Given the description of an element on the screen output the (x, y) to click on. 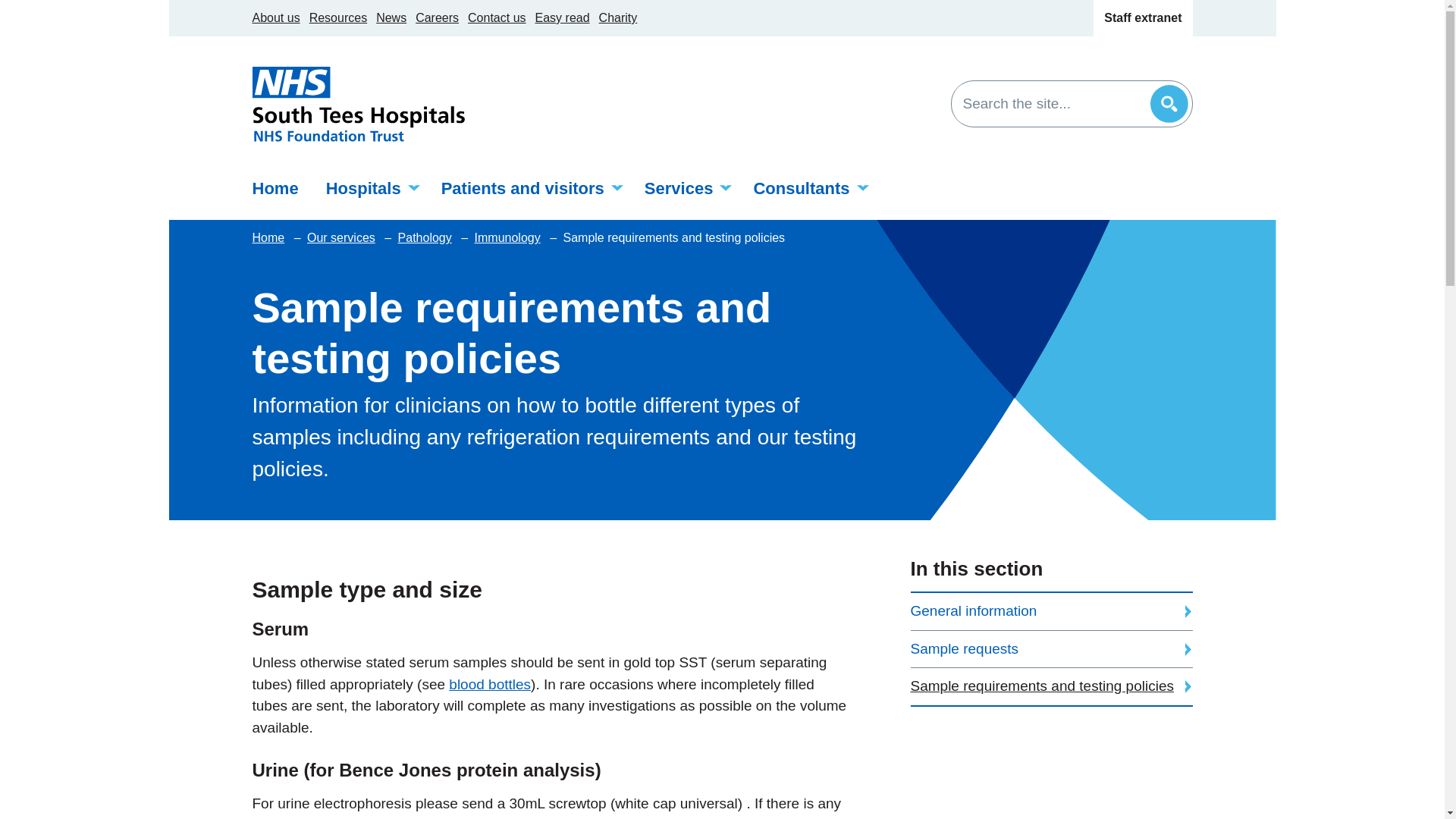
Resources (337, 18)
Careers (436, 18)
Easy read (562, 18)
Hospitals (370, 187)
Home (281, 187)
About us (275, 18)
Go to South Tees Hospitals NHS Foundation Trust. (268, 238)
Charity (617, 18)
Go to Our services. (342, 238)
Patients and visitors (529, 187)
